Given the description of an element on the screen output the (x, y) to click on. 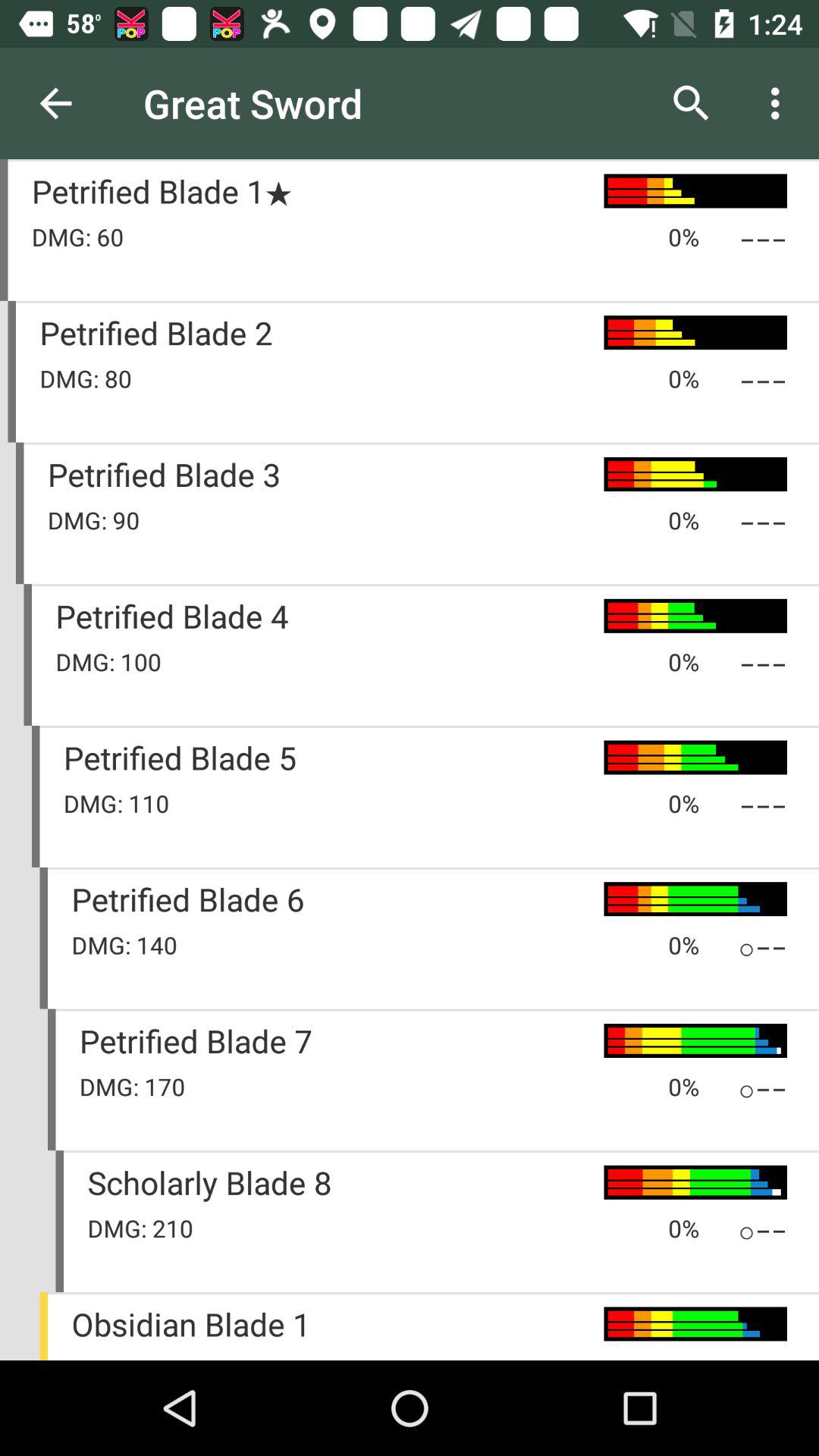
open the item to the left of the great sword item (55, 103)
